Given the description of an element on the screen output the (x, y) to click on. 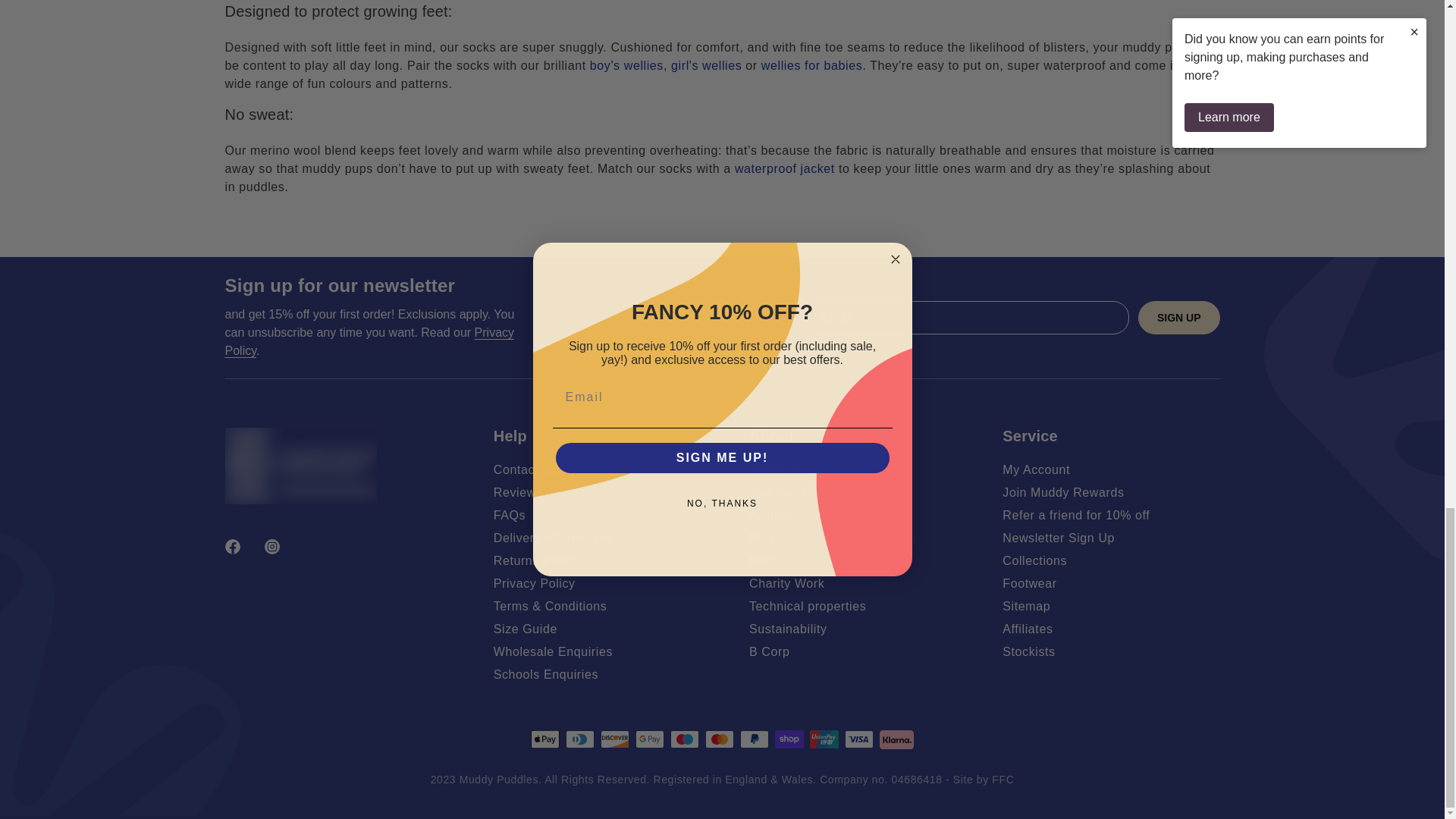
PayPal (753, 739)
Diners Club (580, 739)
Mastercard (718, 739)
Discover (613, 739)
Privacy Policy (368, 341)
Maestro (683, 739)
Apple Pay (545, 739)
Google Pay (648, 739)
